Given the description of an element on the screen output the (x, y) to click on. 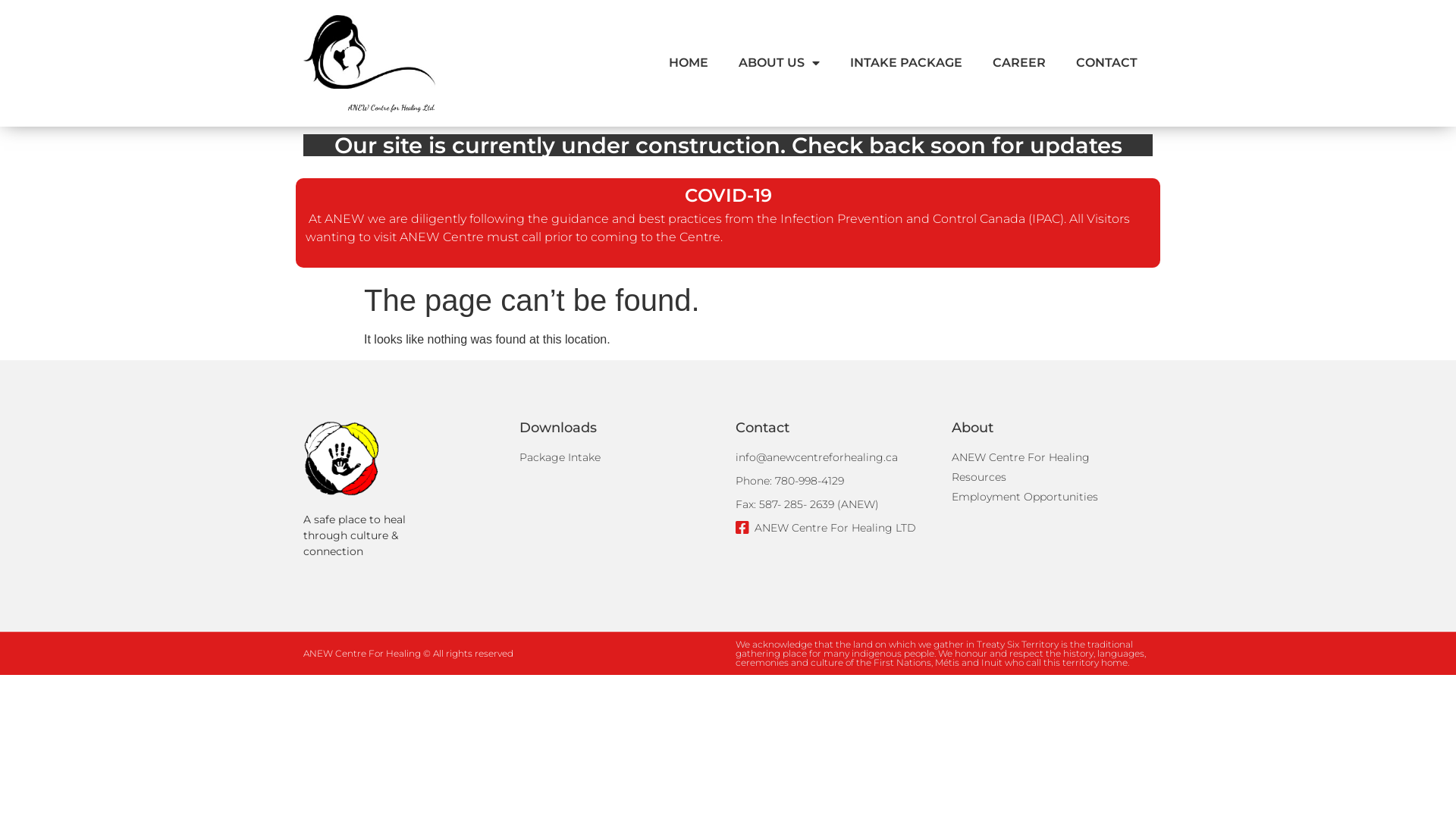
CONTACT Element type: text (1106, 62)
ABOUT US Element type: text (778, 62)
CAREER Element type: text (1018, 62)
Resources Element type: text (1051, 477)
Employment Opportunities Element type: text (1051, 497)
ANEW Centre For Healing Element type: text (1051, 457)
HOME Element type: text (688, 62)
INTAKE PACKAGE Element type: text (905, 62)
info@anewcentreforhealing.ca Element type: text (835, 457)
ANEW Centre For Healing LTD Element type: text (835, 528)
Package Intake Element type: text (619, 457)
